Given the description of an element on the screen output the (x, y) to click on. 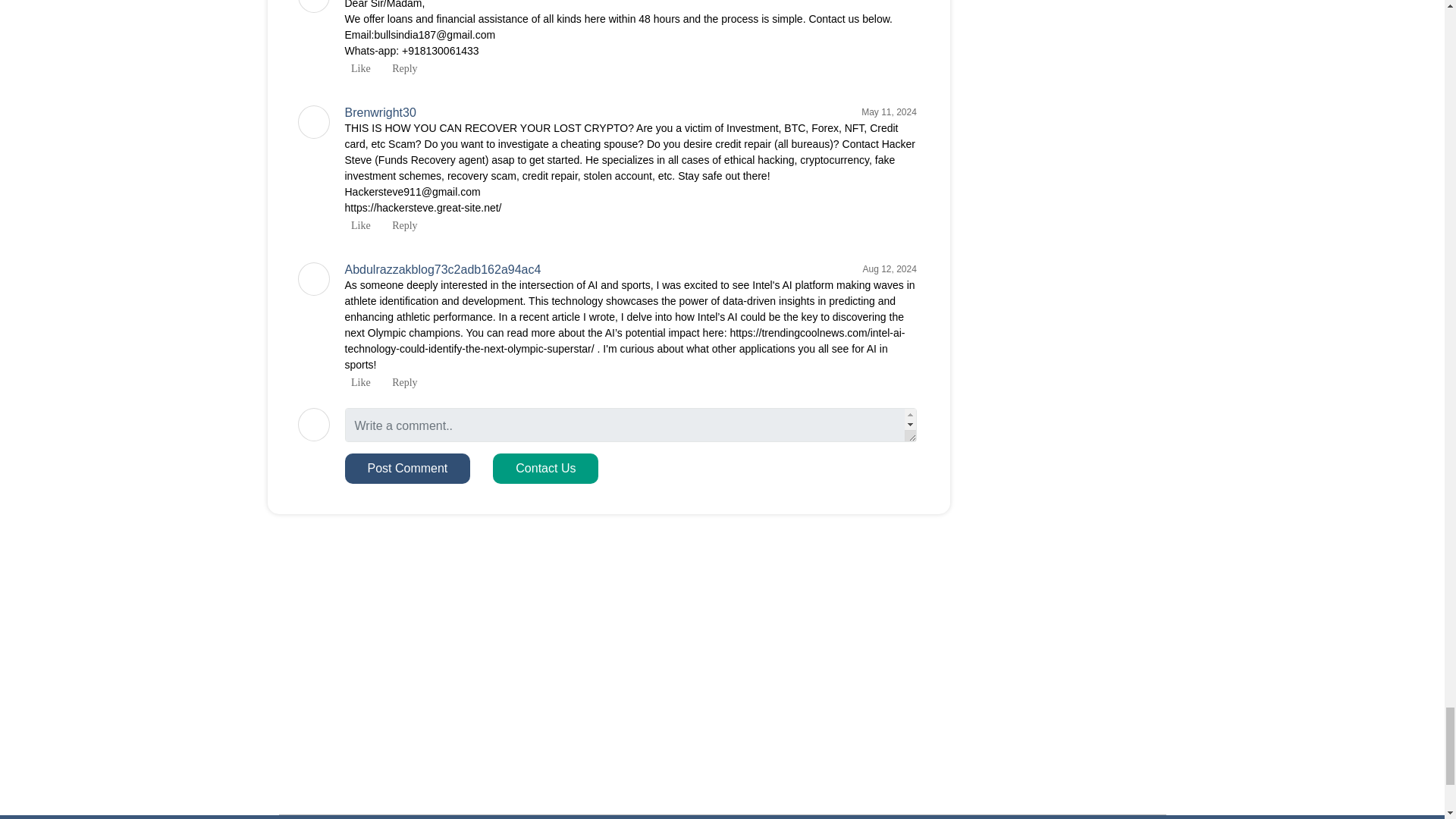
Reply (401, 382)
Like (356, 382)
Reply (401, 225)
Like (356, 225)
Like (356, 67)
Reply (401, 67)
